Given the description of an element on the screen output the (x, y) to click on. 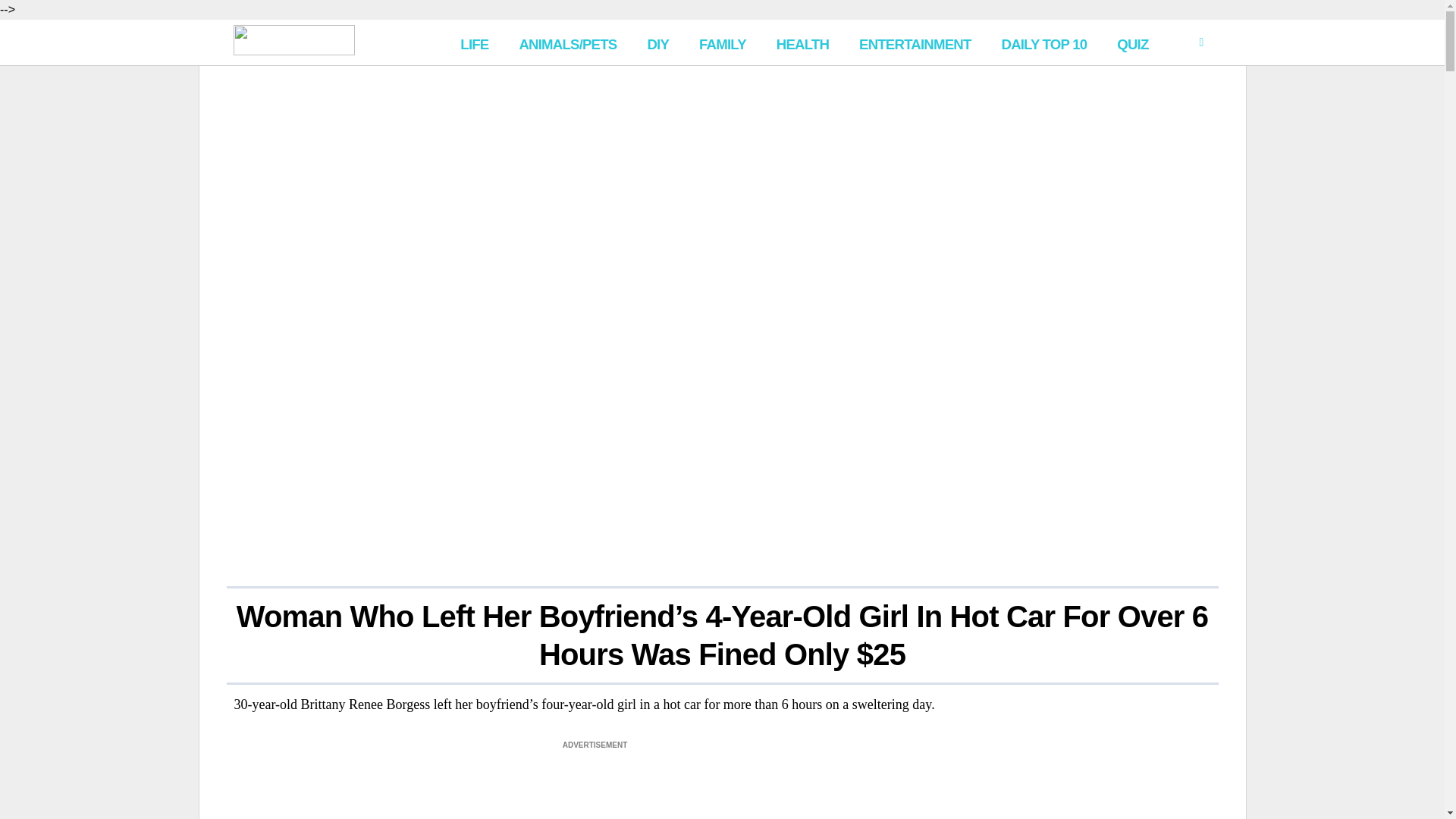
DAILY TOP 10 (1043, 42)
HEALTH (801, 42)
QUIZ (1132, 42)
ENTERTAINMENT (914, 42)
FAMILY (722, 42)
LIFE (474, 42)
